Given the description of an element on the screen output the (x, y) to click on. 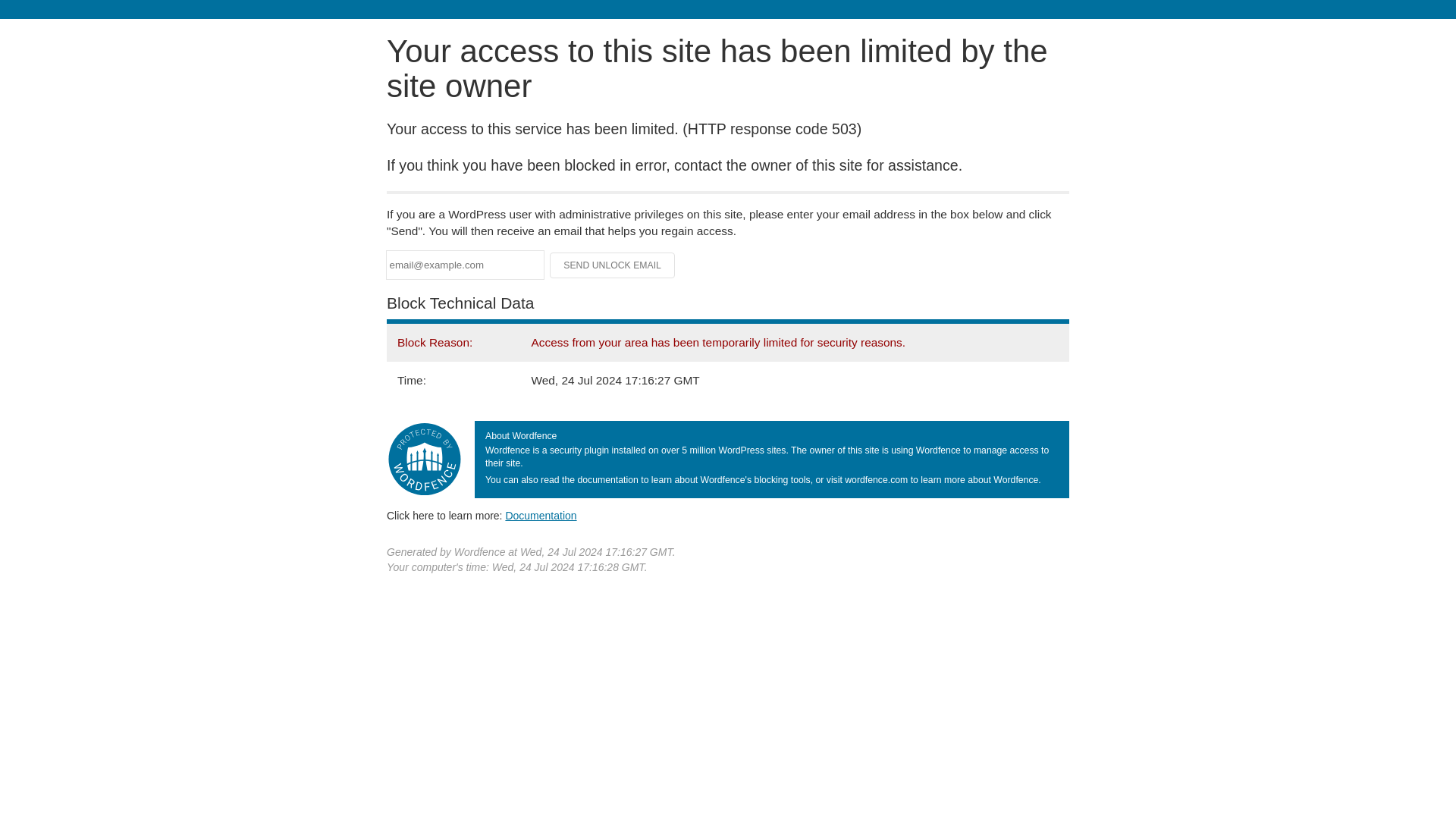
Send Unlock Email (612, 265)
Documentation (540, 515)
Send Unlock Email (612, 265)
